Given the description of an element on the screen output the (x, y) to click on. 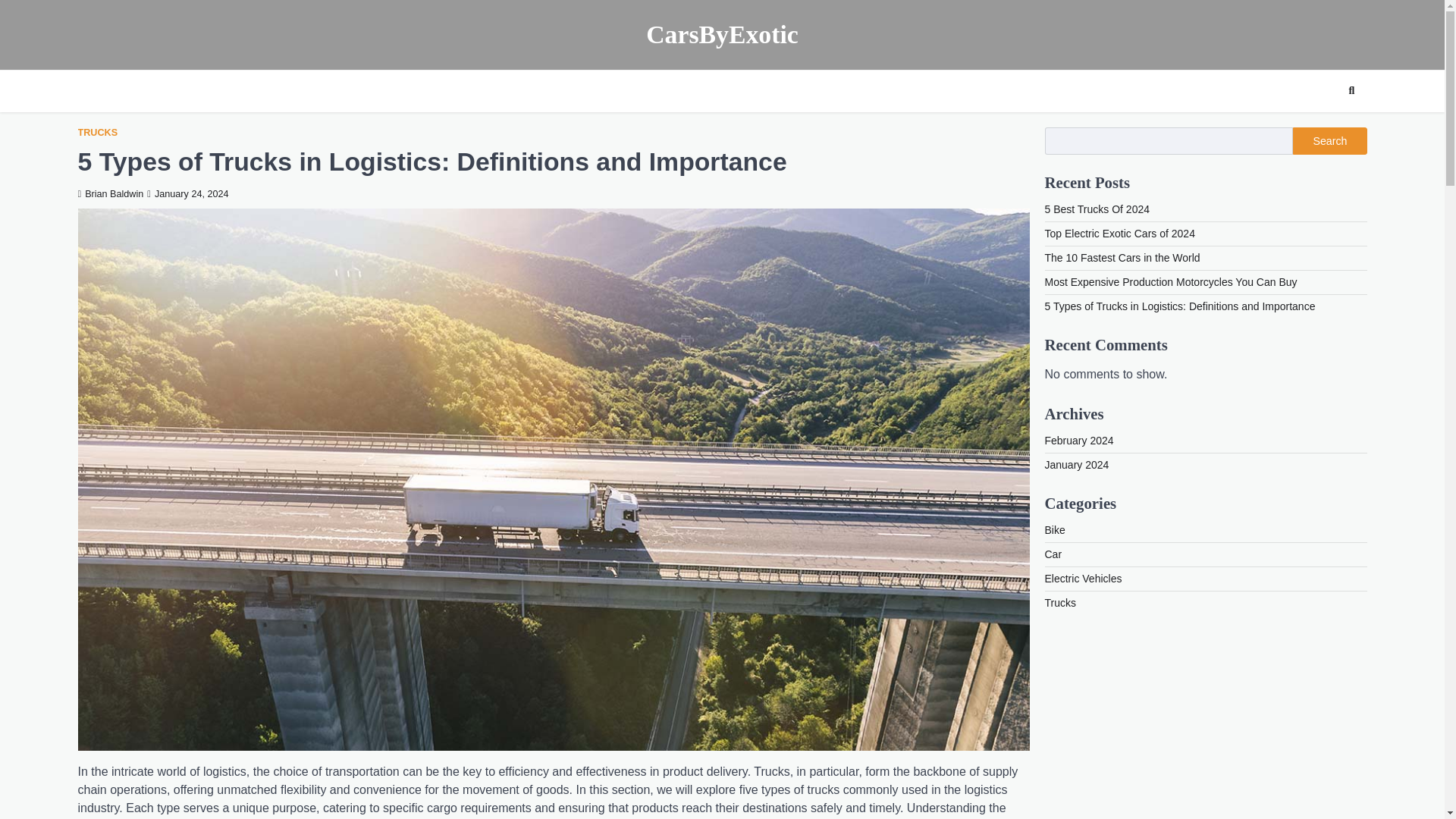
5 Types of Trucks in Logistics: Definitions and Importance (1180, 306)
Top Electric Exotic Cars of 2024 (1120, 233)
Search (1323, 126)
January 2024 (1077, 464)
Search (1351, 90)
CarsByExotic (721, 34)
February 2024 (1079, 440)
Electric Vehicles (1083, 578)
January 24, 2024 (187, 194)
Most Expensive Production Motorcycles You Can Buy (1171, 282)
Brian Baldwin (109, 194)
Car (1053, 553)
5 Best Trucks Of 2024 (1097, 209)
Search (1329, 140)
The 10 Fastest Cars in the World (1122, 257)
